Given the description of an element on the screen output the (x, y) to click on. 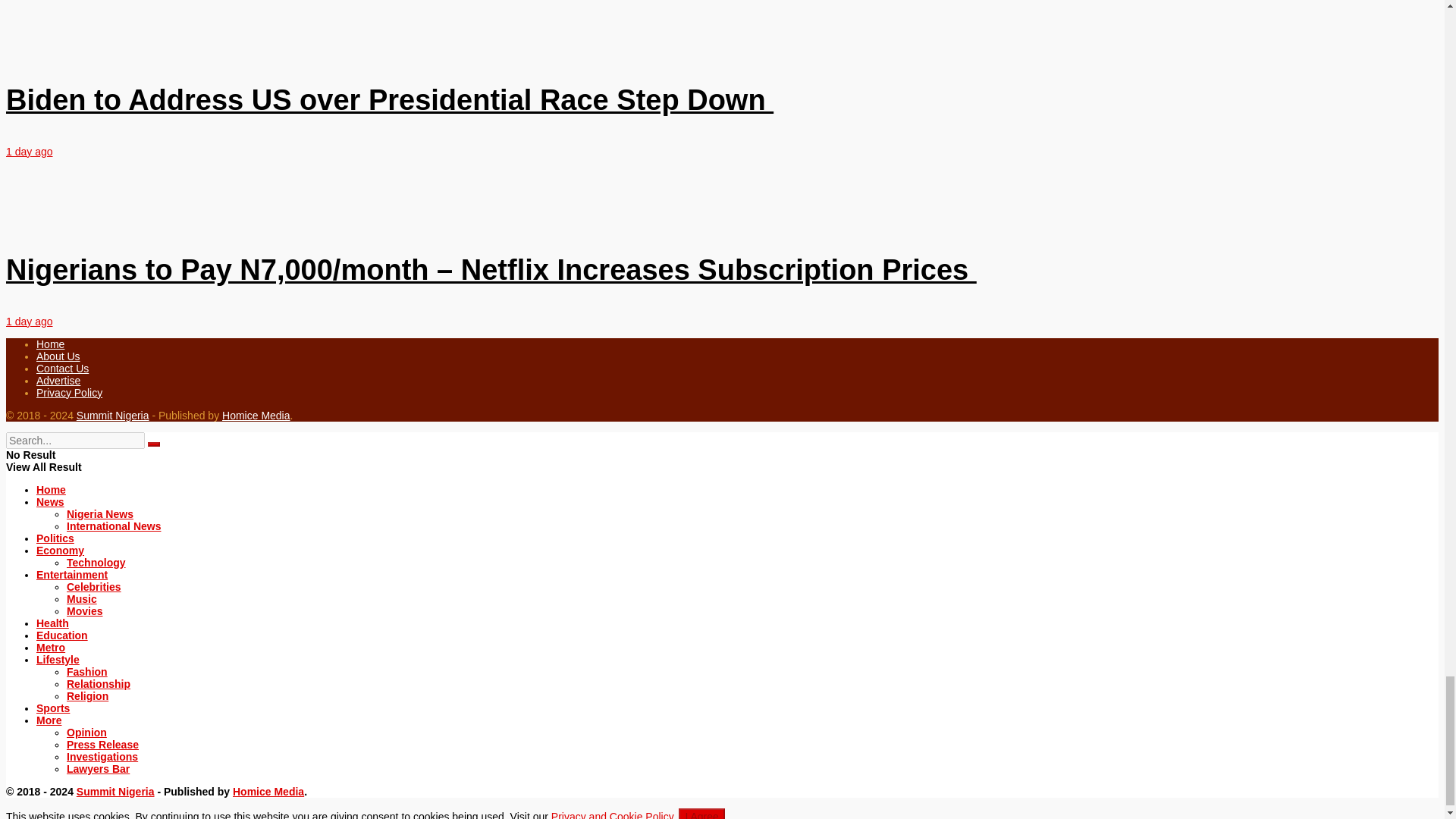
Summit News Nigeria (115, 791)
Homice Media (255, 415)
Summit News Nigeria (113, 415)
Homice Media (268, 791)
